Given the description of an element on the screen output the (x, y) to click on. 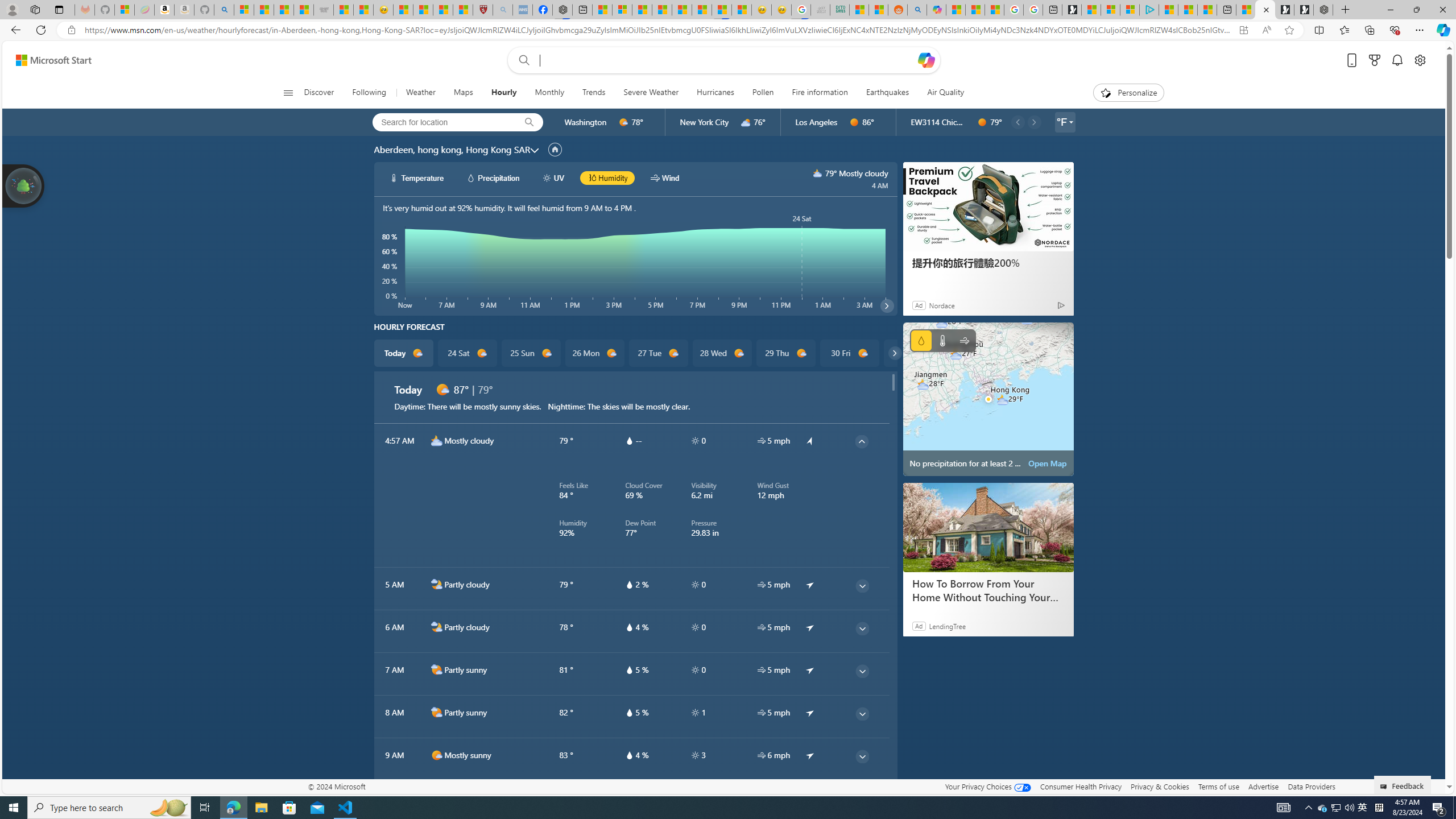
hourlyChart/humidityBlack Humidity (606, 178)
Join us in planting real trees to help our planet! (23, 184)
Microsoft Copilot in Bing (935, 9)
hourlyChart/windWhite Wind (664, 178)
Pollen (762, 92)
Fire information (819, 92)
Trends (593, 92)
